Given the description of an element on the screen output the (x, y) to click on. 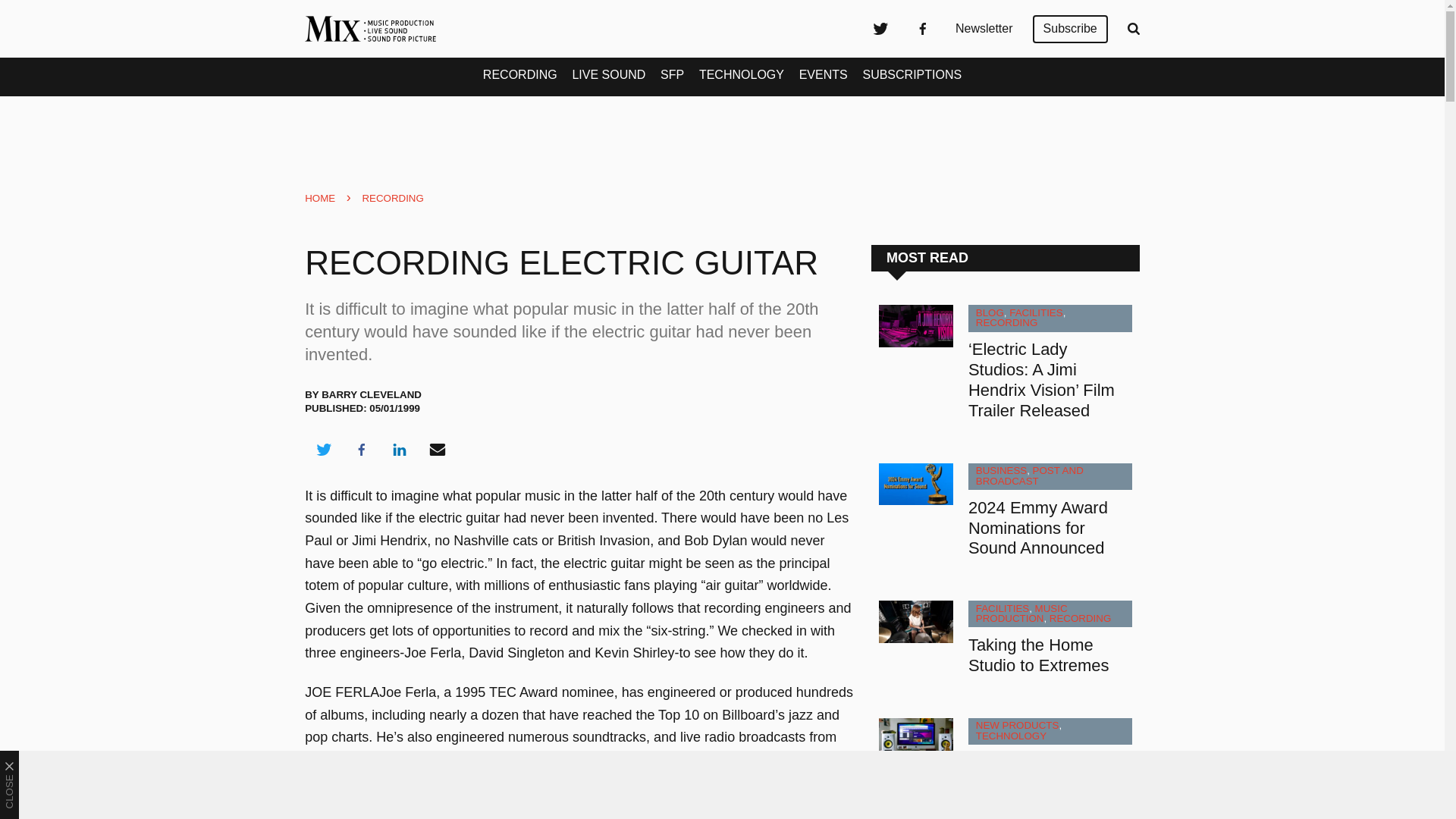
Share on Twitter (323, 449)
Share on LinkedIn (399, 449)
Share via Email (438, 449)
Share on Facebook (361, 449)
